Given the description of an element on the screen output the (x, y) to click on. 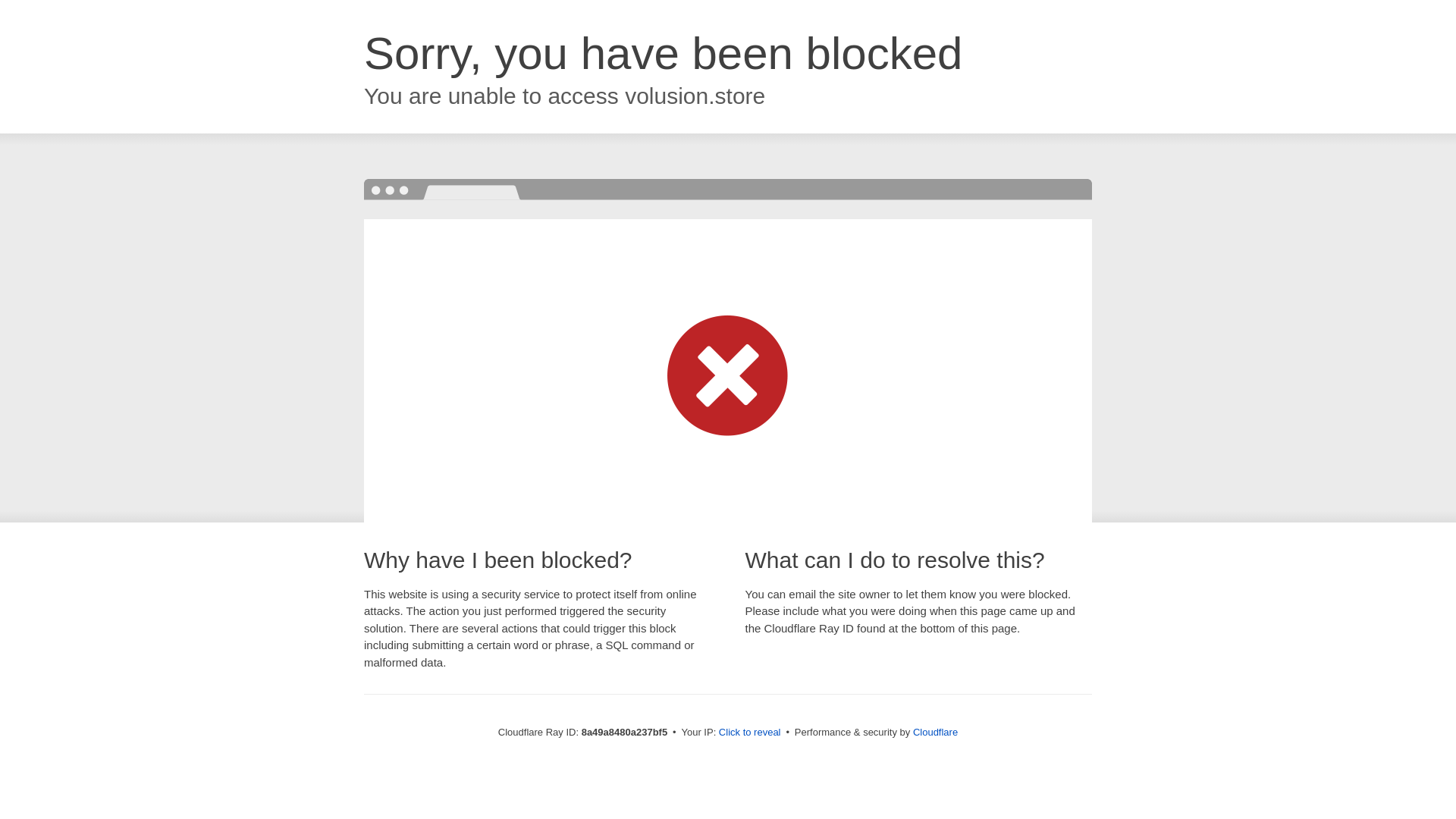
Click to reveal (749, 732)
Cloudflare (935, 731)
